Given the description of an element on the screen output the (x, y) to click on. 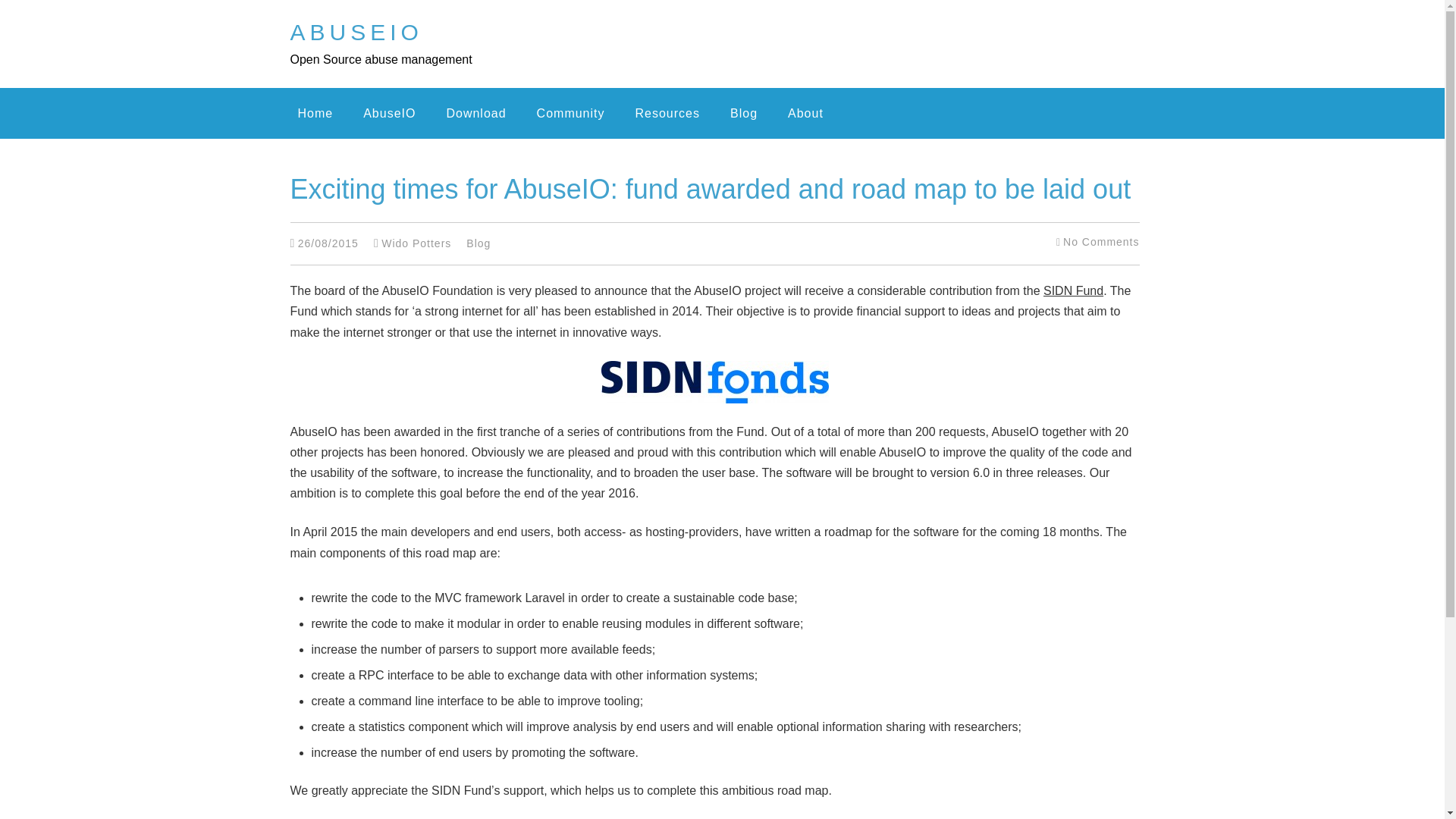
SIDN Fund (1073, 290)
ABUSEIO (355, 32)
About (805, 113)
No Comments (1100, 241)
AbuseIO (355, 32)
Resources (667, 113)
Community (570, 113)
Download (475, 113)
Home (314, 113)
View all posts by Wido Potters (416, 243)
